Given the description of an element on the screen output the (x, y) to click on. 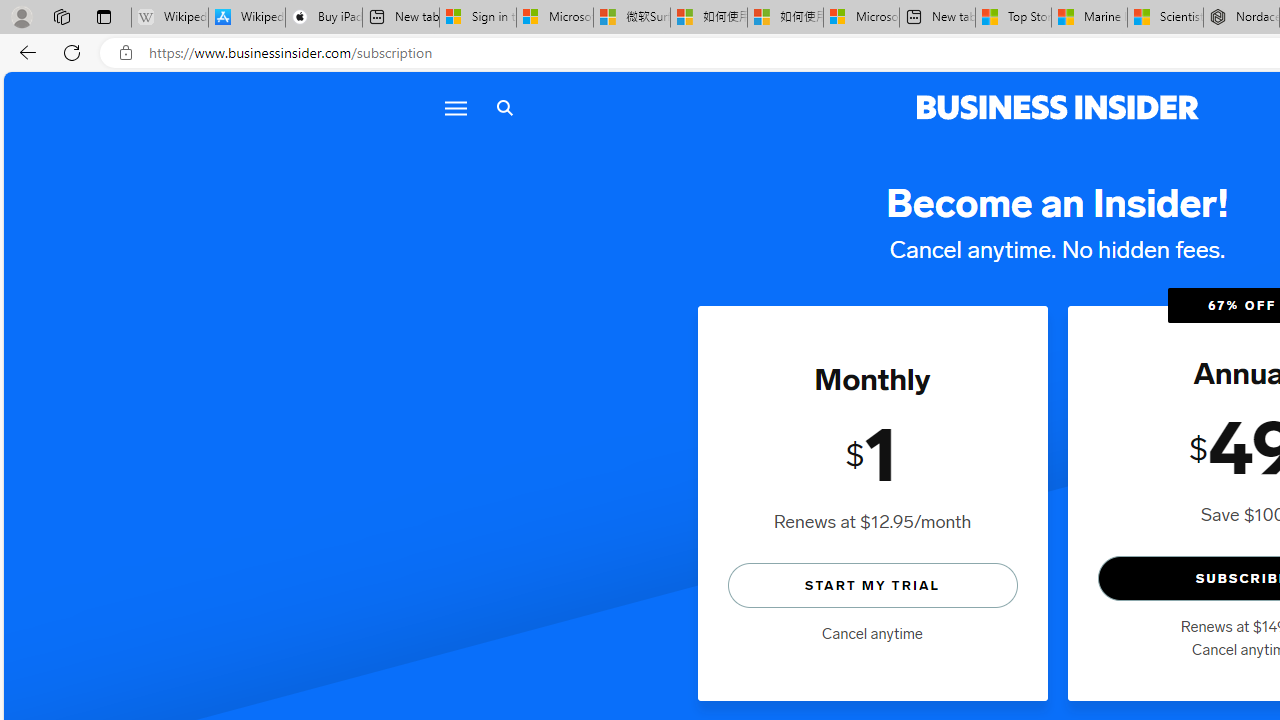
Marine life - MSN (1089, 17)
Cancel anytime (872, 633)
Go to the search page. (504, 107)
Microsoft Services Agreement (554, 17)
Sign in to your Microsoft account (477, 17)
START MY TRIAL (872, 584)
